Given the description of an element on the screen output the (x, y) to click on. 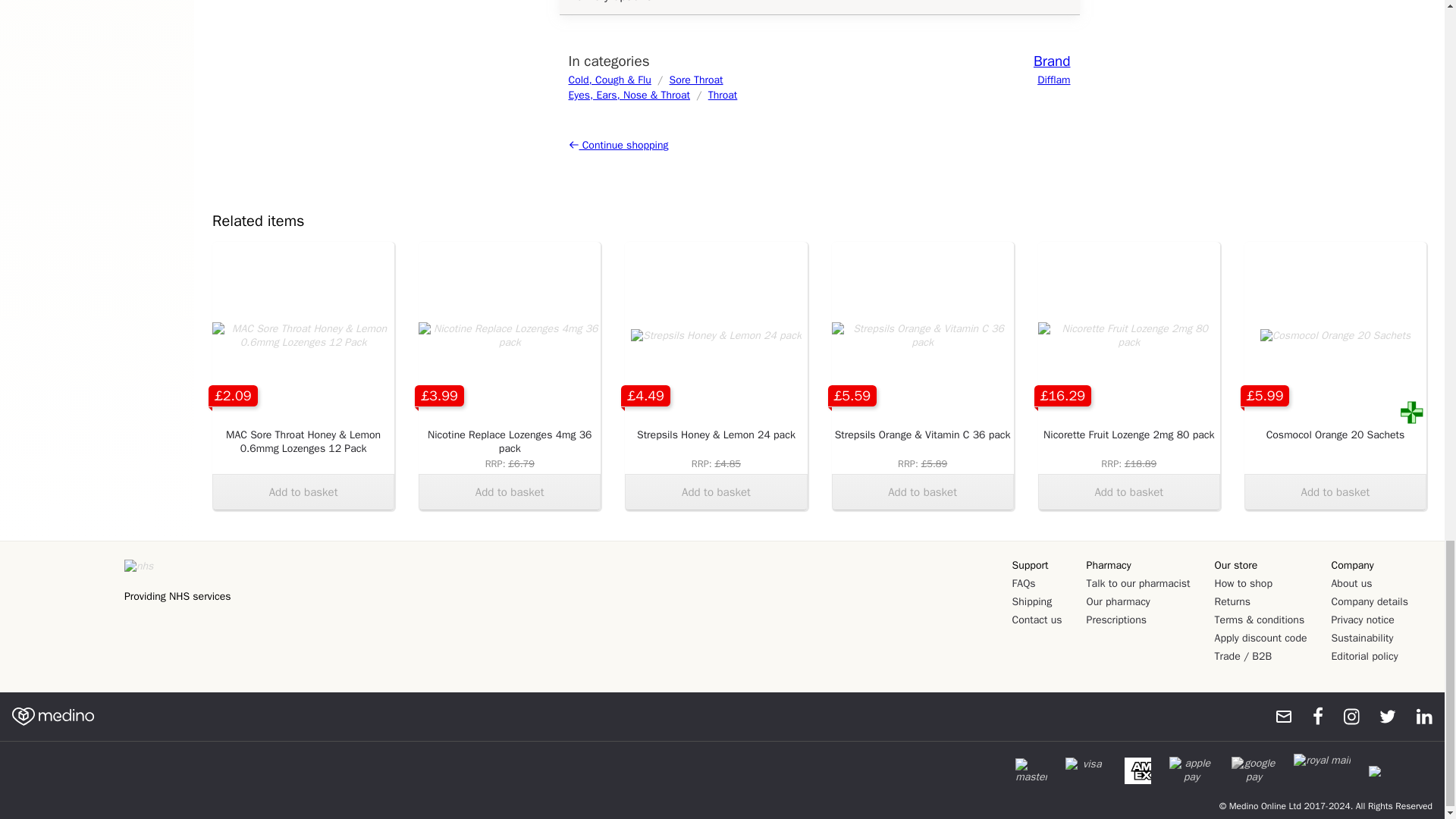
home (52, 716)
Reviews Badge Widget (64, 605)
medino on instagram (1344, 716)
medino on facebook (1307, 716)
medino on linkedIn (1417, 716)
medino on twitter (1380, 716)
Subscribe to our newsletter (1277, 716)
